Given the description of an element on the screen output the (x, y) to click on. 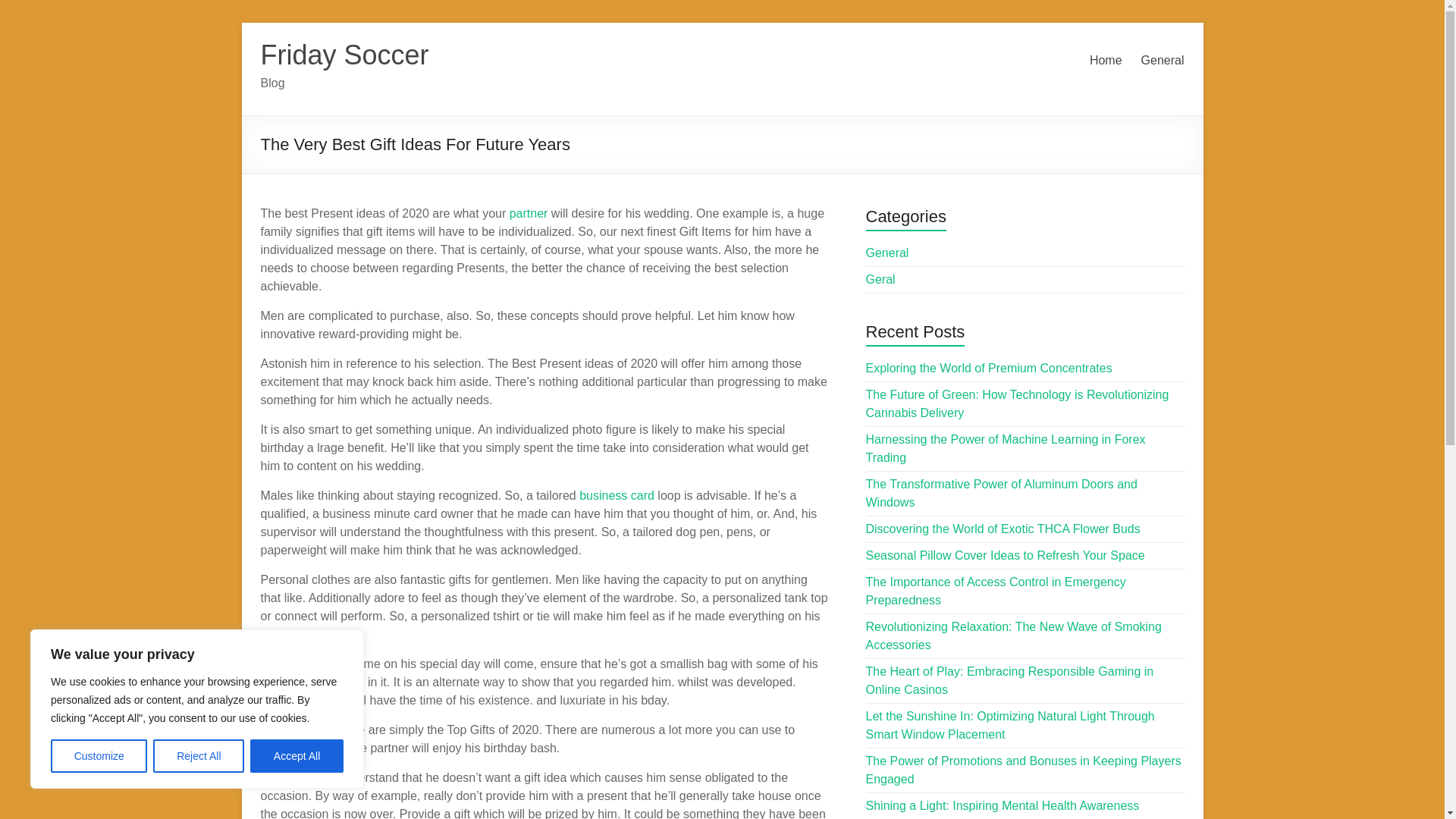
partner (528, 213)
Harnessing the Power of Machine Learning in Forex Trading (1005, 448)
Accept All (296, 756)
Friday Soccer (344, 54)
Reject All (198, 756)
General (1163, 60)
Customize (98, 756)
General (887, 252)
Discovering the World of Exotic THCA Flower Buds (1003, 528)
